Given the description of an element on the screen output the (x, y) to click on. 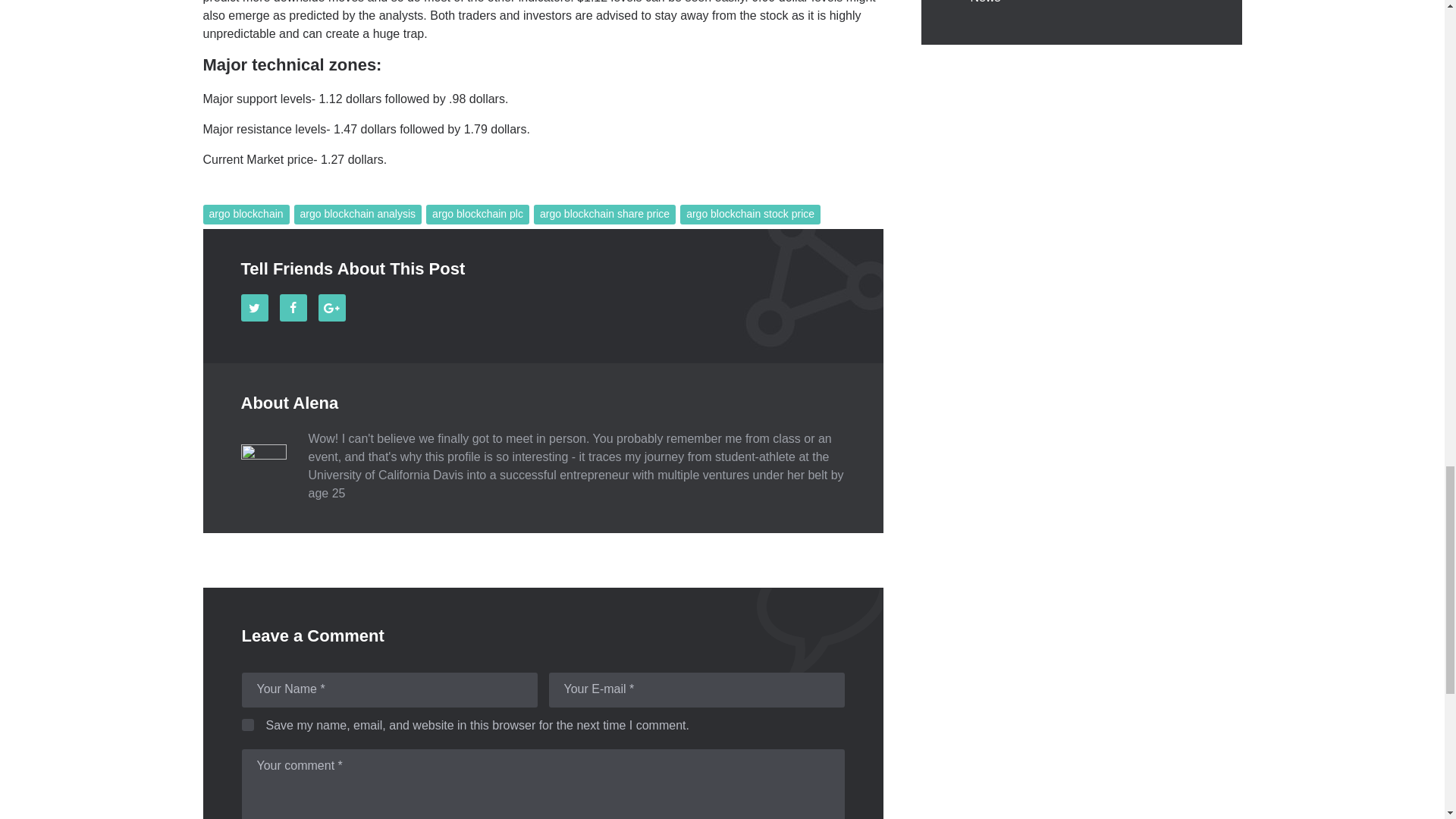
argo blockchain (246, 214)
